Given the description of an element on the screen output the (x, y) to click on. 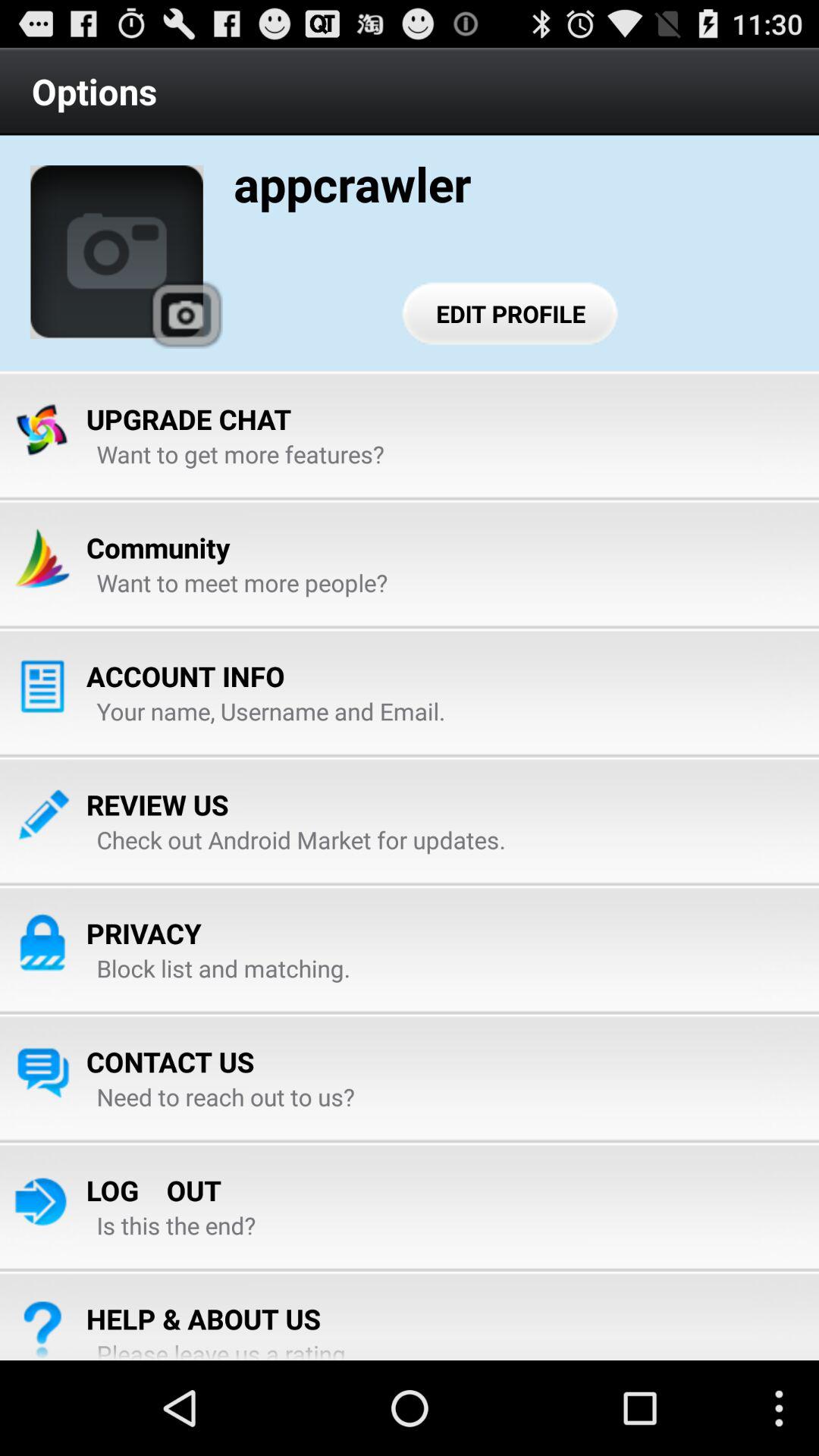
click icon below the is this the icon (203, 1318)
